Given the description of an element on the screen output the (x, y) to click on. 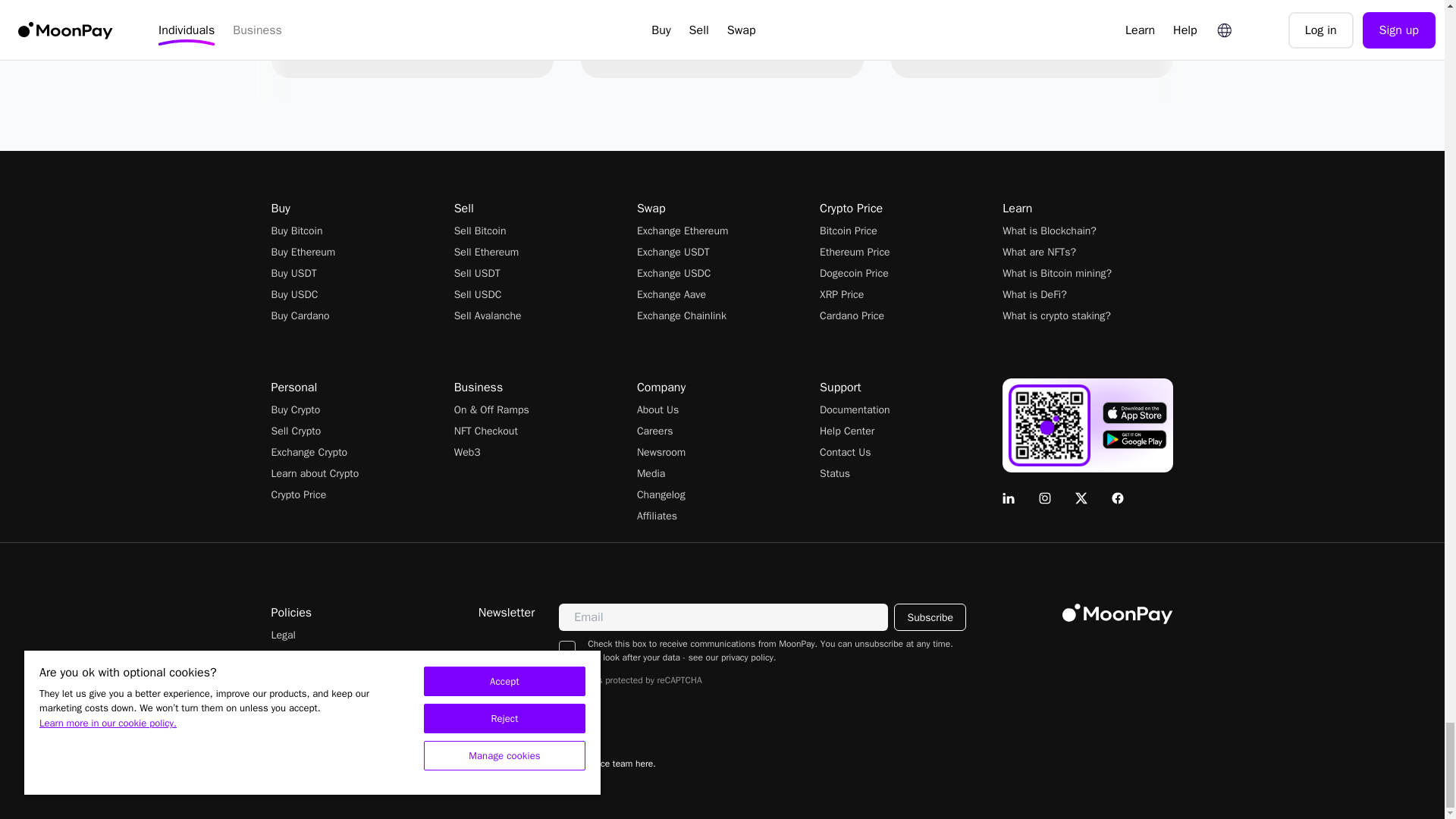
false (567, 648)
